Given the description of an element on the screen output the (x, y) to click on. 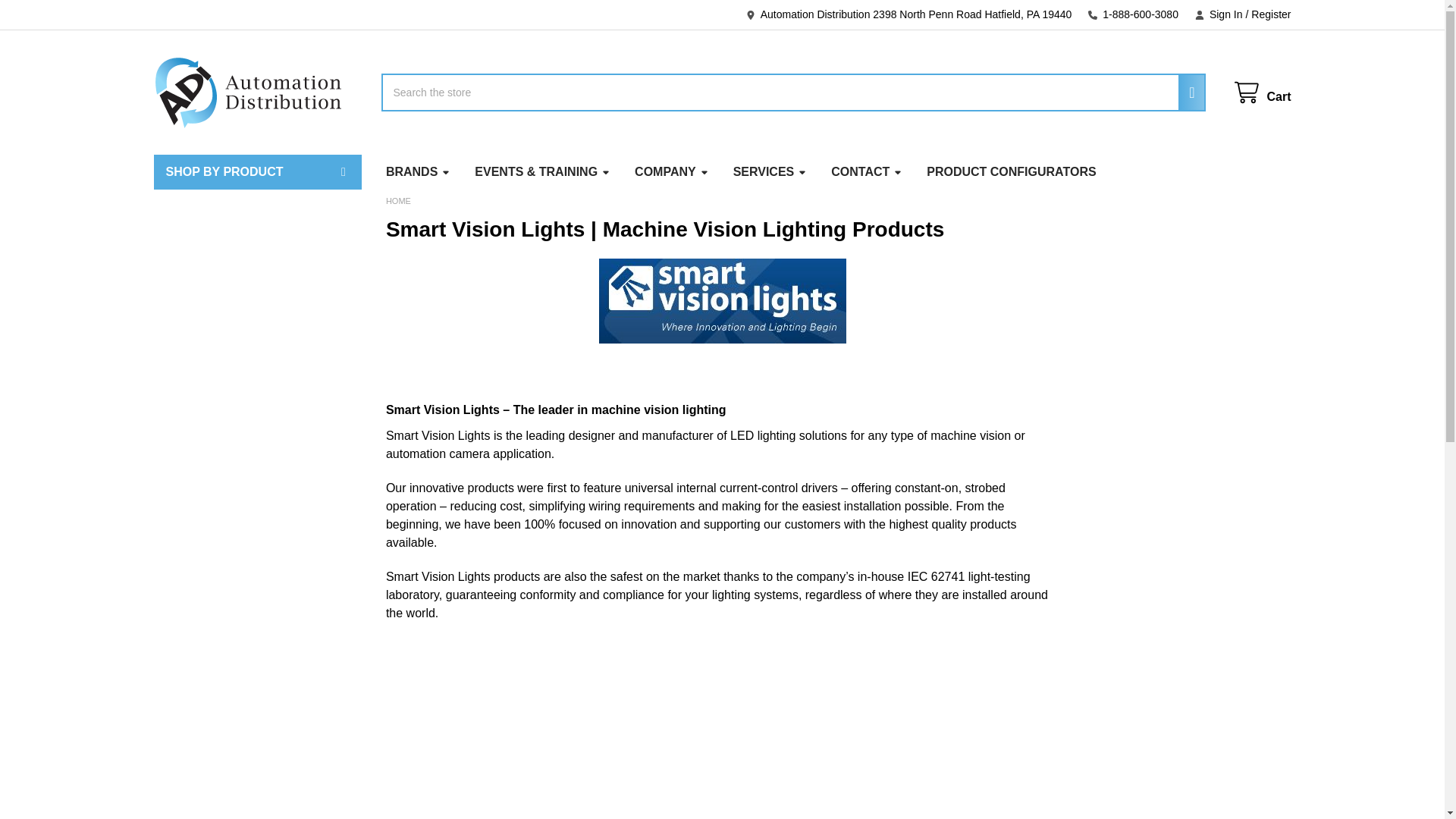
Automation Distribution (247, 92)
COMPANY (671, 171)
SHOP BY PRODUCT (256, 171)
BRANDS (418, 171)
Search (1187, 92)
Cart (1261, 92)
Sign In (1218, 14)
Register (1266, 14)
smart-vision-logo.jpg (721, 300)
1-888-600-3080 (1133, 14)
Cart (1261, 92)
Search (1187, 92)
